Given the description of an element on the screen output the (x, y) to click on. 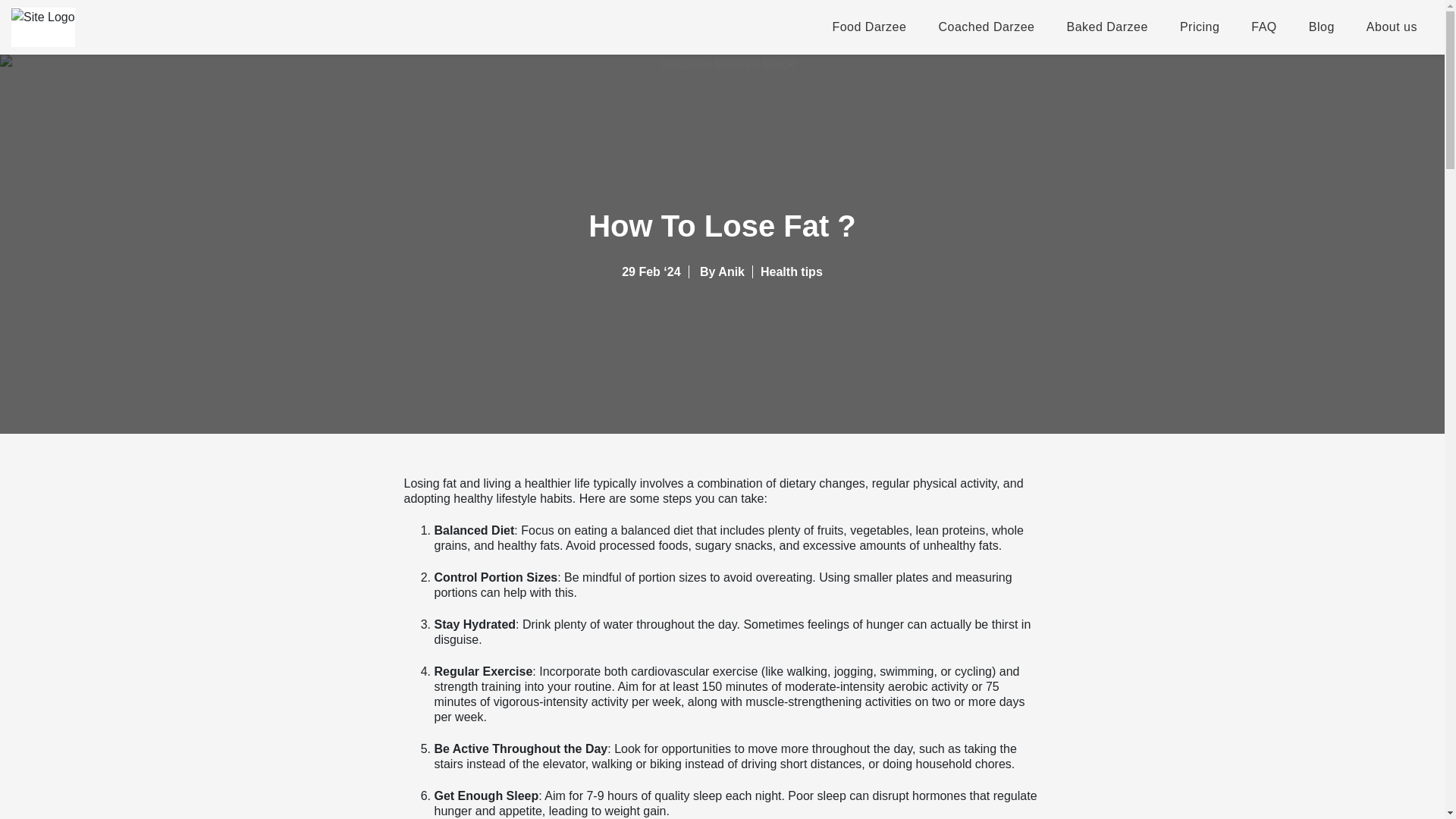
FAQ (1263, 27)
About us (1391, 27)
Pricing (1198, 27)
Blog (1321, 27)
Coached Darzee (985, 27)
Baked Darzee (1107, 27)
Food Darzee (876, 27)
